Given the description of an element on the screen output the (x, y) to click on. 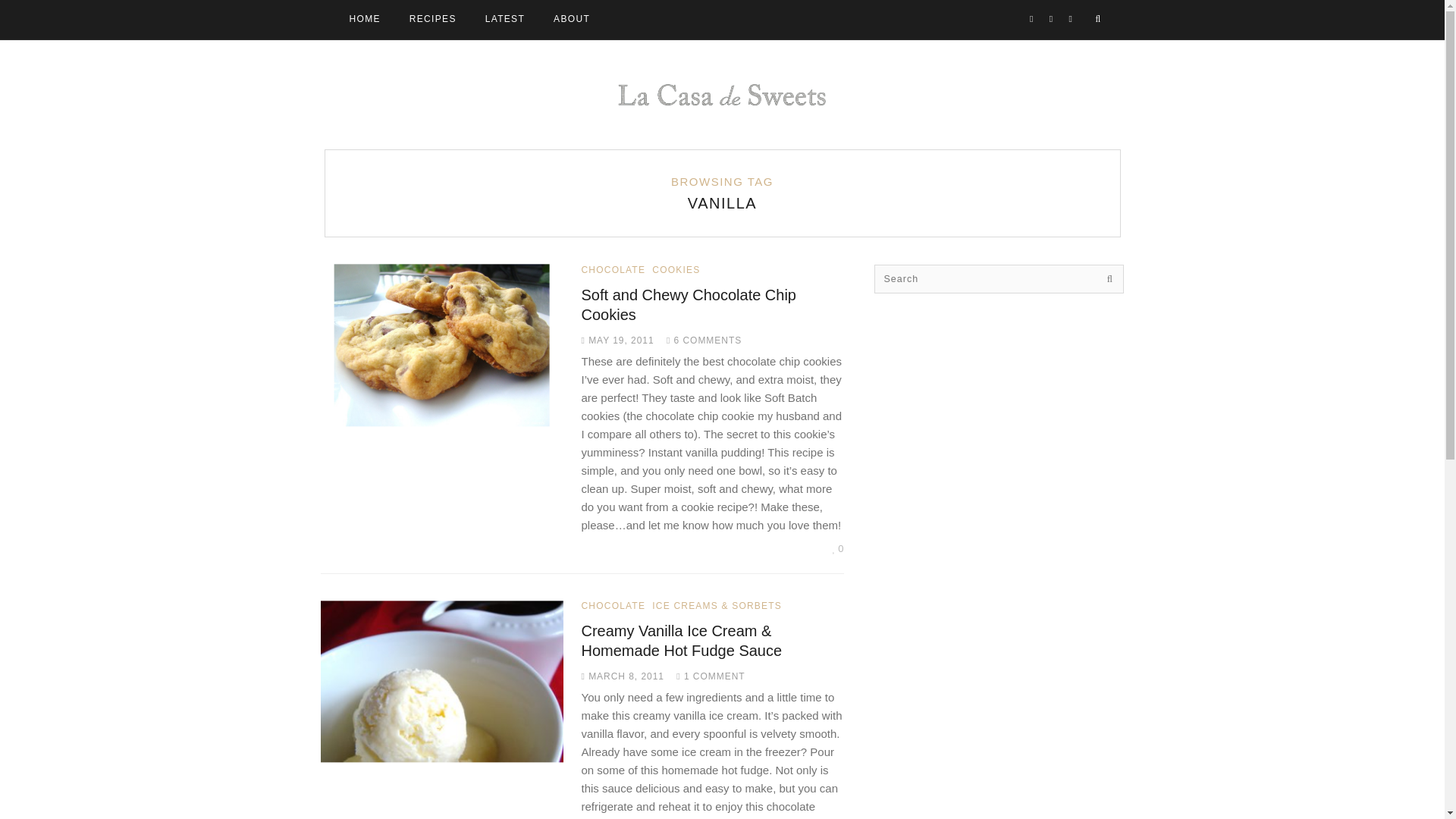
CHOCOLATE (612, 605)
COOKIES (676, 269)
1 COMMENT (710, 675)
Like this (838, 548)
HOME (363, 19)
Soft and Chewy Chocolate Chip Cookies (688, 304)
CHOCOLATE (612, 269)
6 COMMENTS (703, 339)
0 (838, 548)
LATEST (504, 19)
ABOUT (572, 19)
RECIPES (433, 19)
